Given the description of an element on the screen output the (x, y) to click on. 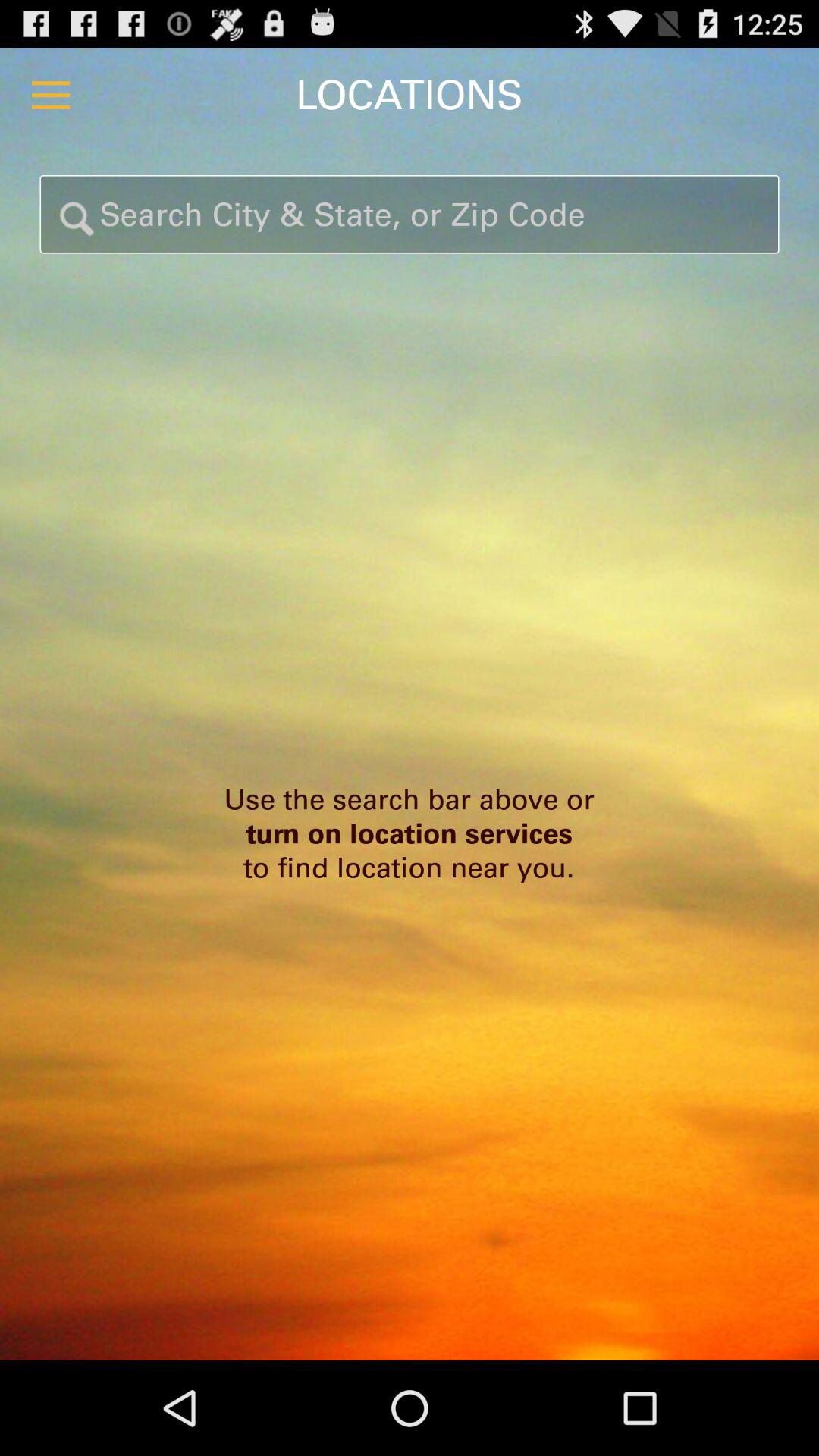
search location (409, 214)
